Given the description of an element on the screen output the (x, y) to click on. 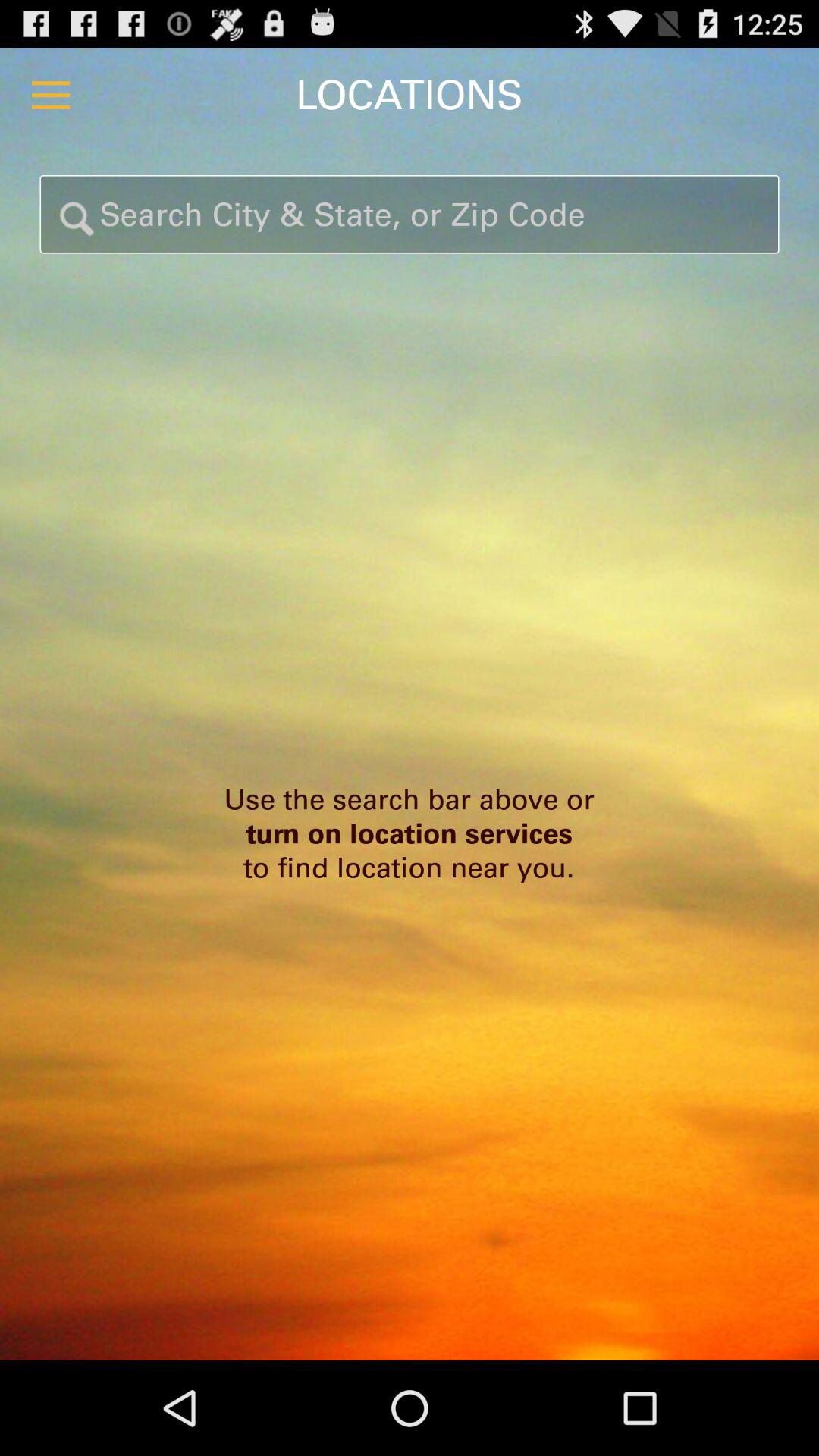
search location (409, 214)
